Given the description of an element on the screen output the (x, y) to click on. 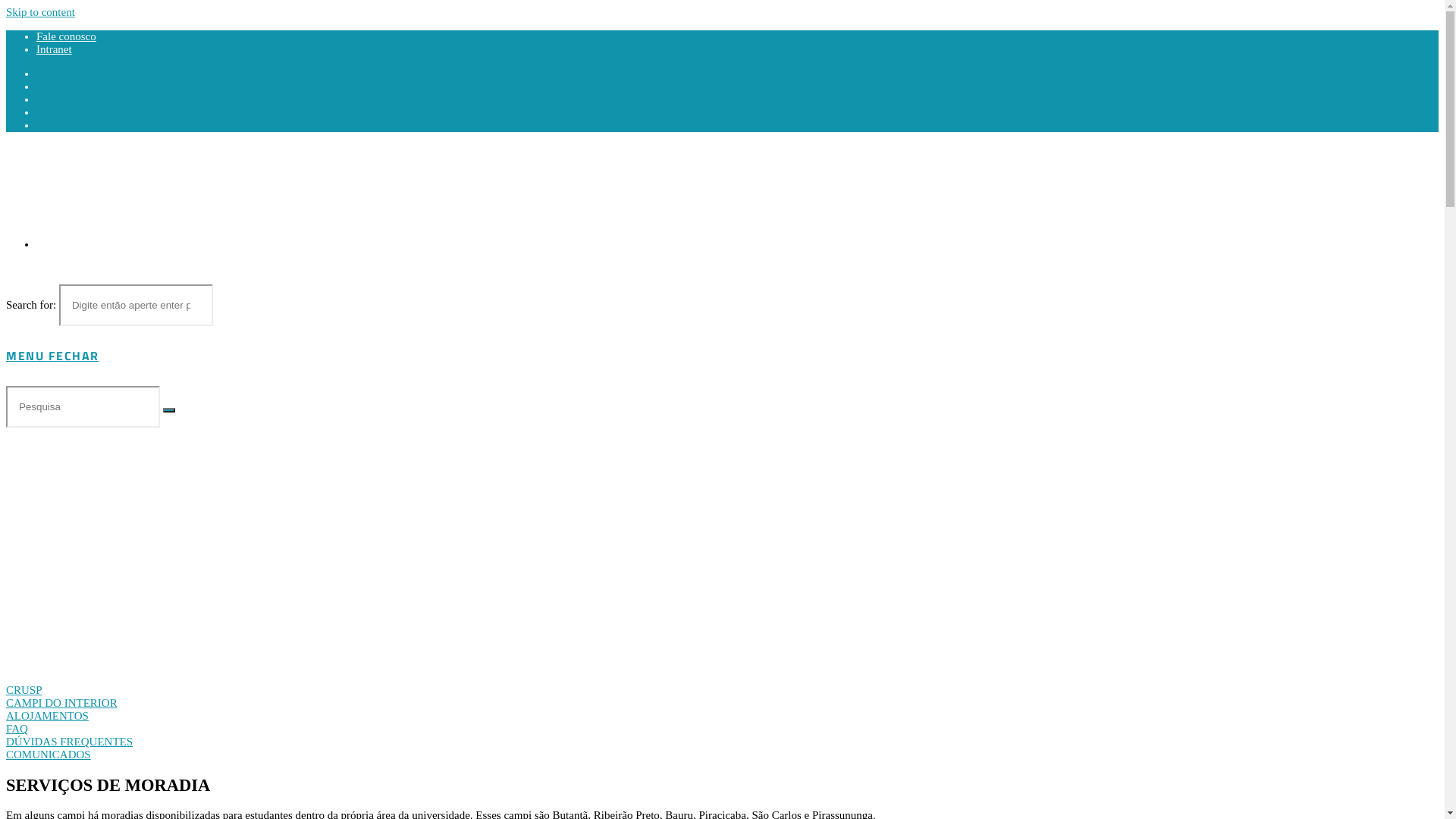
Fale conosco Element type: text (66, 36)
MENU FECHAR Element type: text (52, 355)
CAMPI DO INTERIOR Element type: text (61, 702)
Skip to content Element type: text (40, 12)
COMUNICADOS Element type: text (48, 754)
ALOJAMENTOS Element type: text (47, 715)
Intranet Element type: text (54, 49)
CRUSP Element type: text (24, 690)
